Given the description of an element on the screen output the (x, y) to click on. 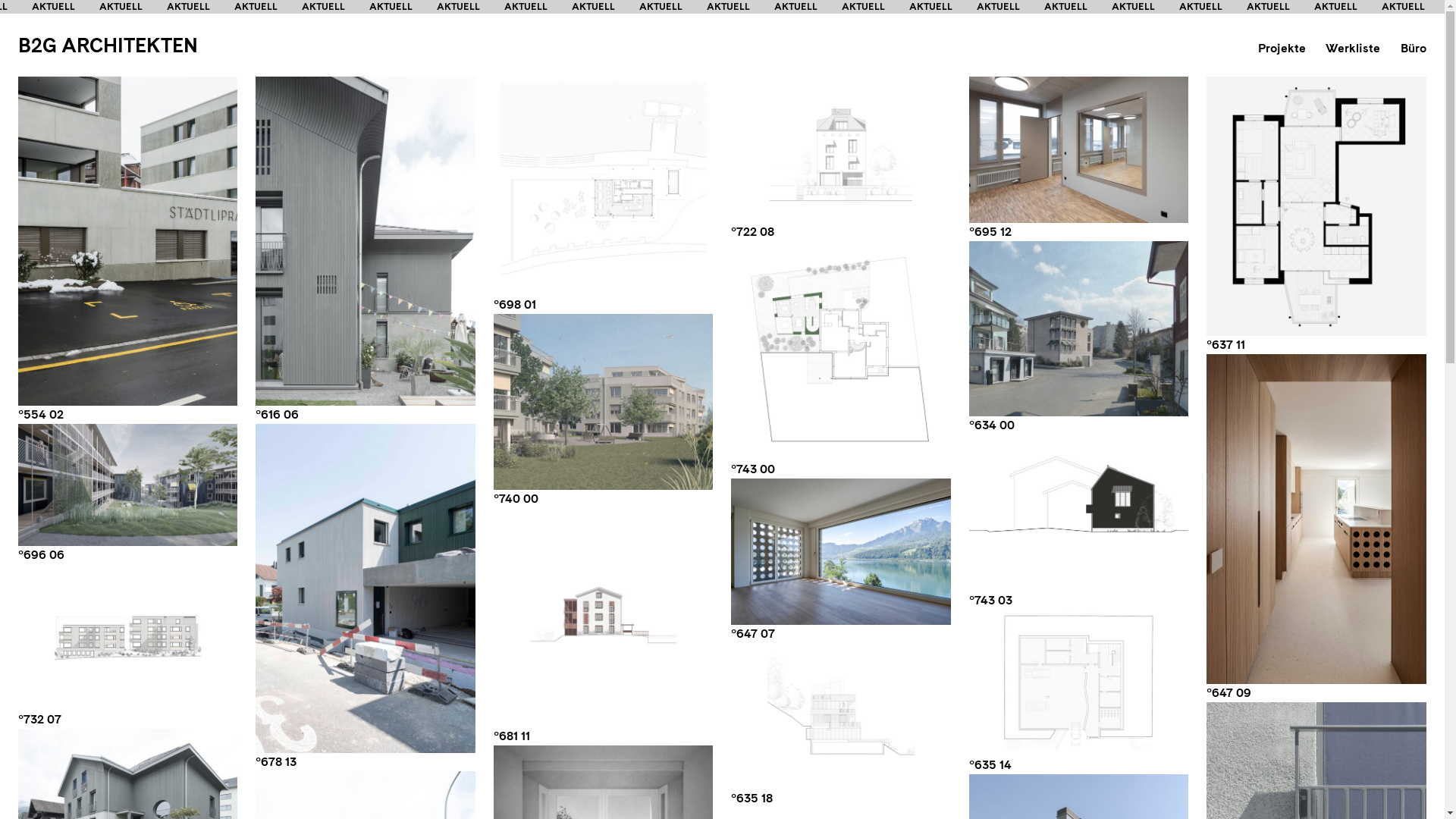
B2G ARCHITEKTEN Element type: text (107, 44)
Werkliste Element type: text (1352, 47)
Projekte Element type: text (1281, 47)
